Given the description of an element on the screen output the (x, y) to click on. 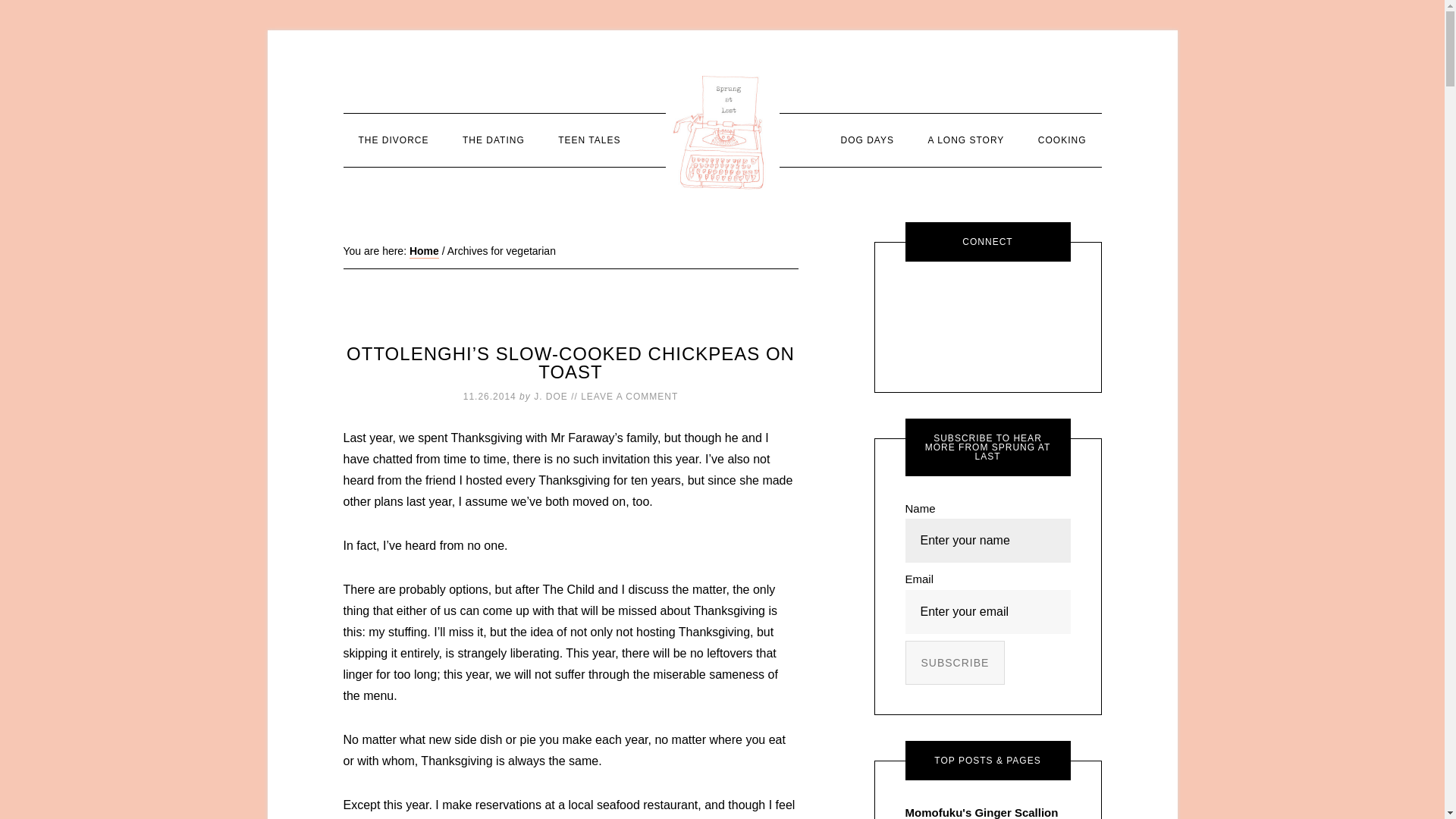
Email (945, 301)
THE DATING (493, 140)
Pinterest (945, 344)
THE DIVORCE (393, 140)
Subscribe (955, 661)
LEAVE A COMMENT (629, 396)
RSS (987, 344)
J. DOE (550, 396)
Twitter (1029, 344)
Home (424, 251)
Facebook (987, 301)
SPRUNG AT LAST (721, 132)
A LONG STORY (965, 140)
DOG DAYS (866, 140)
Instagram (1029, 301)
